Given the description of an element on the screen output the (x, y) to click on. 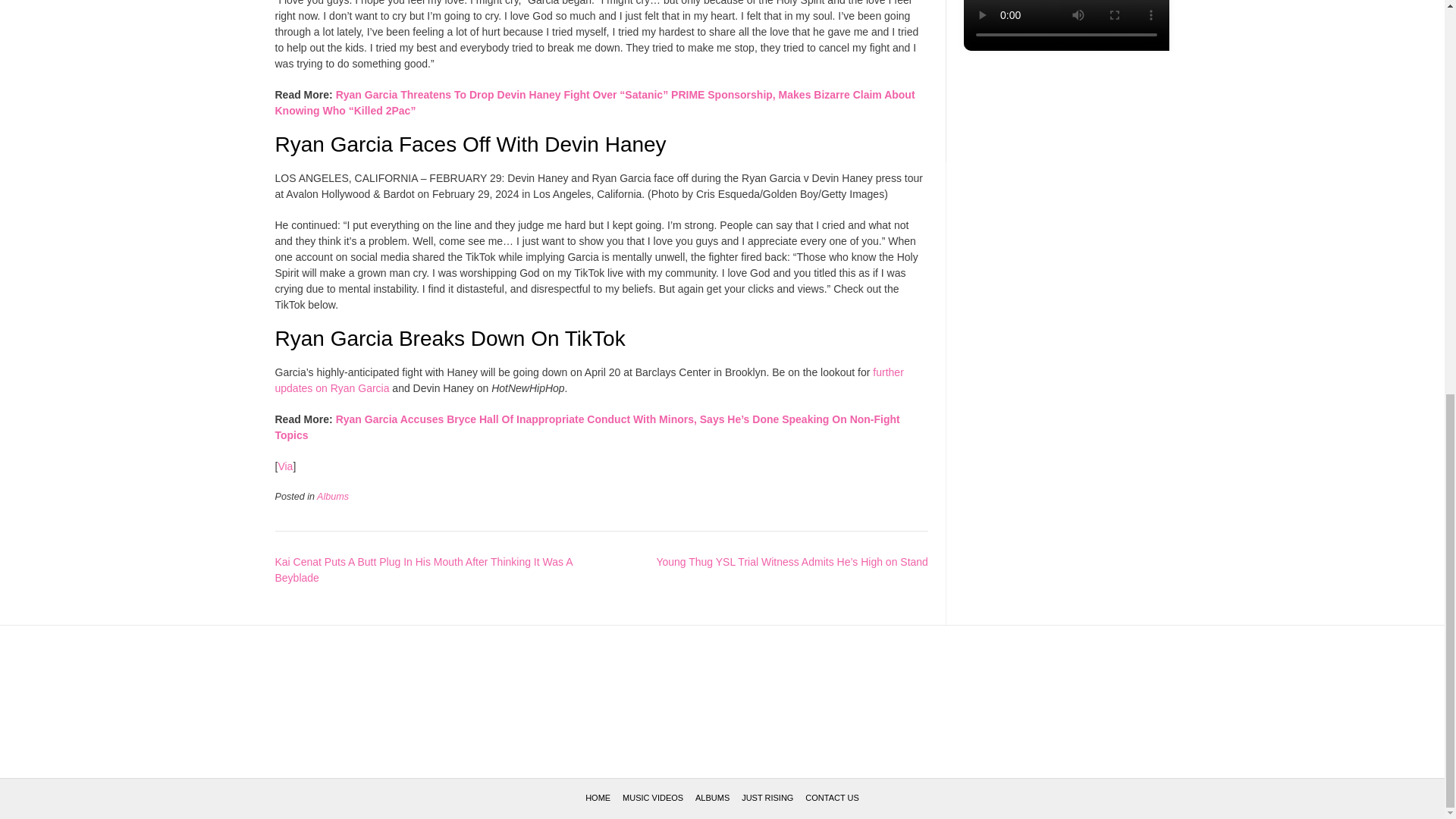
Via (285, 466)
further updates on Ryan Garcia (588, 379)
JUST RISING (767, 797)
Your browser does not support the video tag. (1066, 46)
Albums (333, 496)
CONTACT US (831, 797)
ALBUMS (712, 797)
MUSIC VIDEOS (652, 797)
HOME (597, 797)
